Given the description of an element on the screen output the (x, y) to click on. 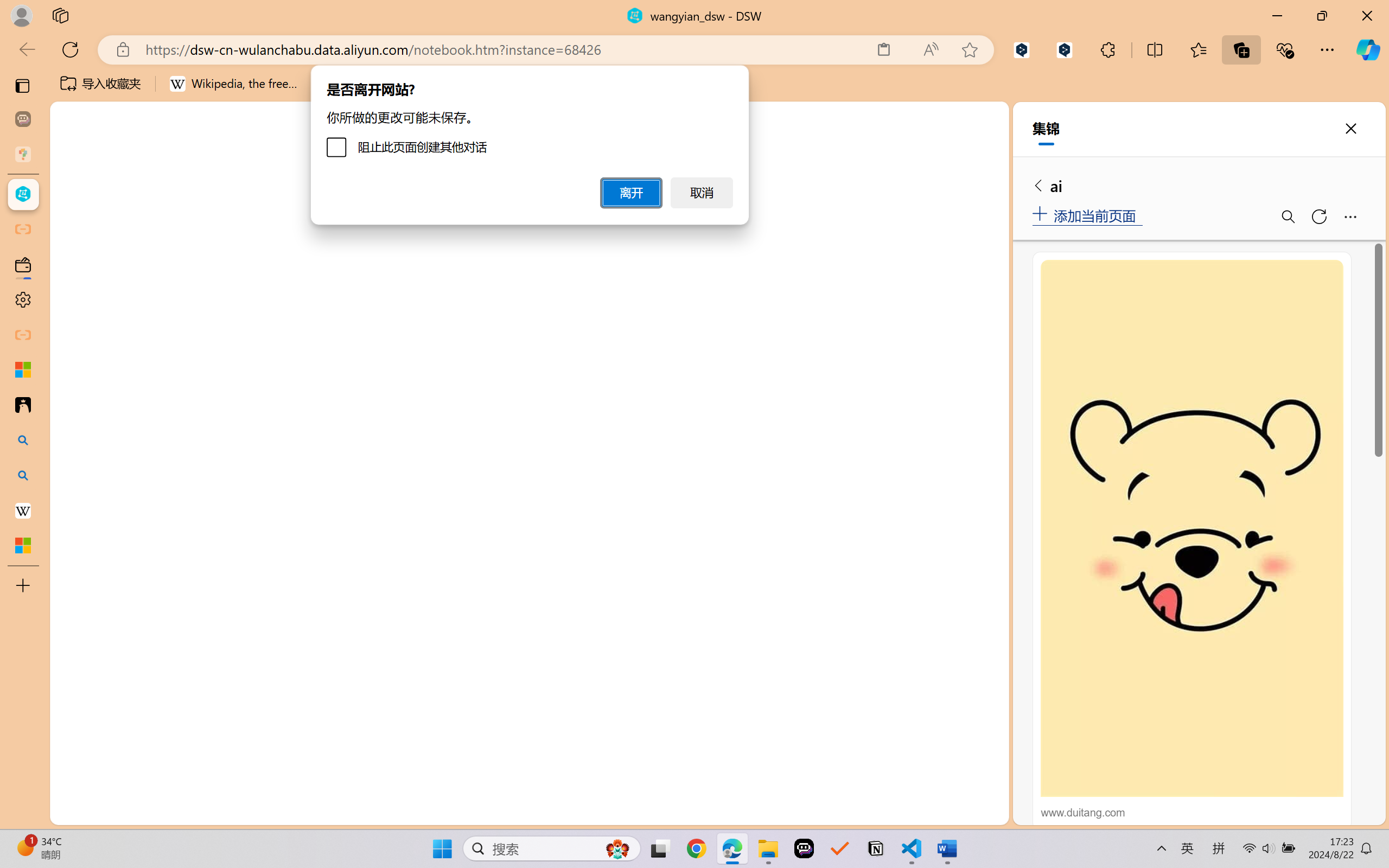
Run and Debug (Ctrl+Shift+D) (73, 375)
Terminal 2 bash (949, 614)
Outline Section (179, 769)
Source Control (Ctrl+Shift+G) (73, 328)
Copilot (Ctrl+Shift+.) (1368, 49)
Extensions (Ctrl+Shift+X) (73, 422)
